Given the description of an element on the screen output the (x, y) to click on. 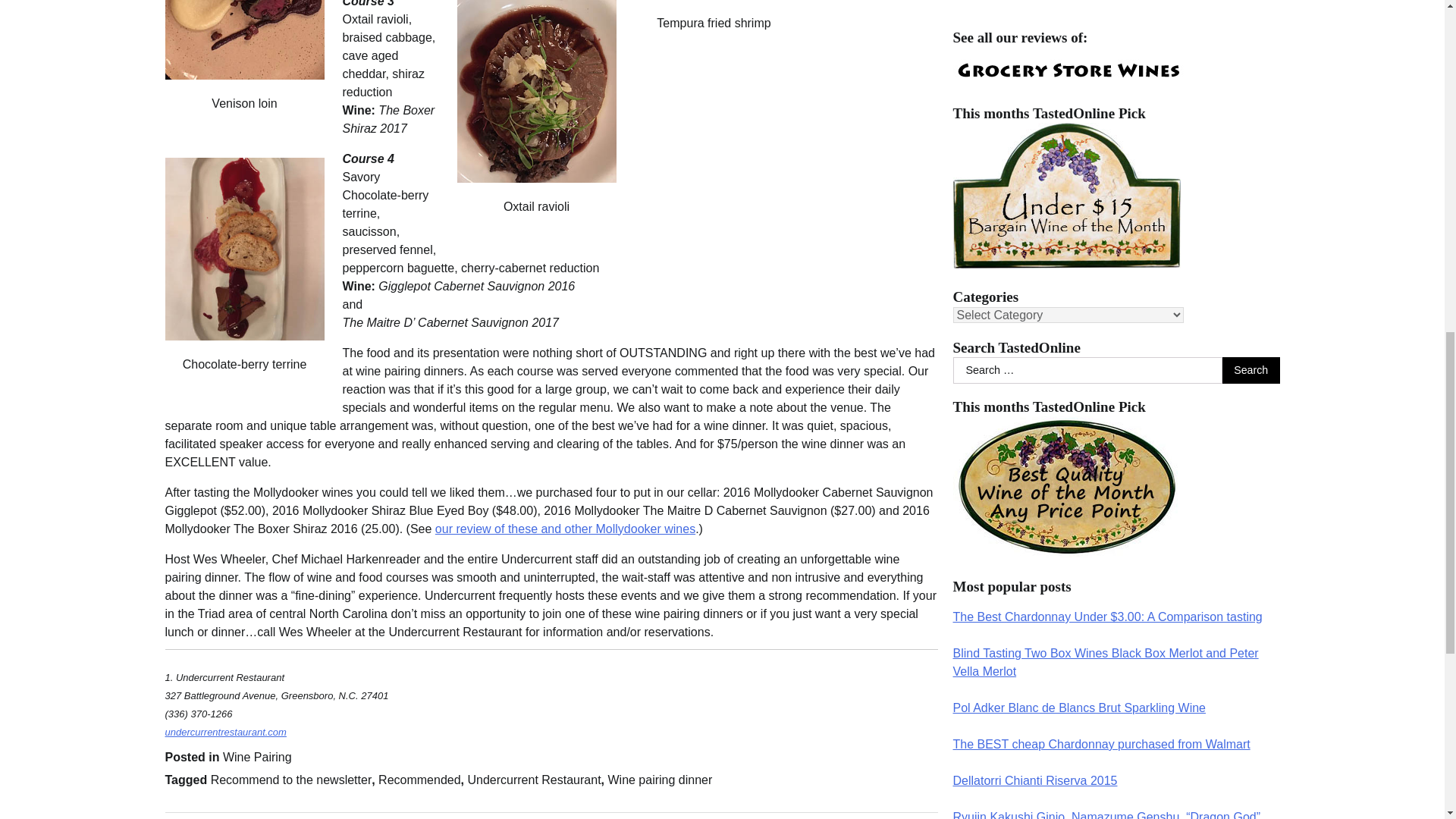
Undercurrent Restaurant (533, 779)
undercurrentrestaurant.com (225, 731)
our review of these and other Mollydooker wines (565, 528)
Recommended (419, 779)
Wine Pairing (257, 757)
Wine pairing dinner (659, 779)
Recommend to the newsletter (291, 779)
